Given the description of an element on the screen output the (x, y) to click on. 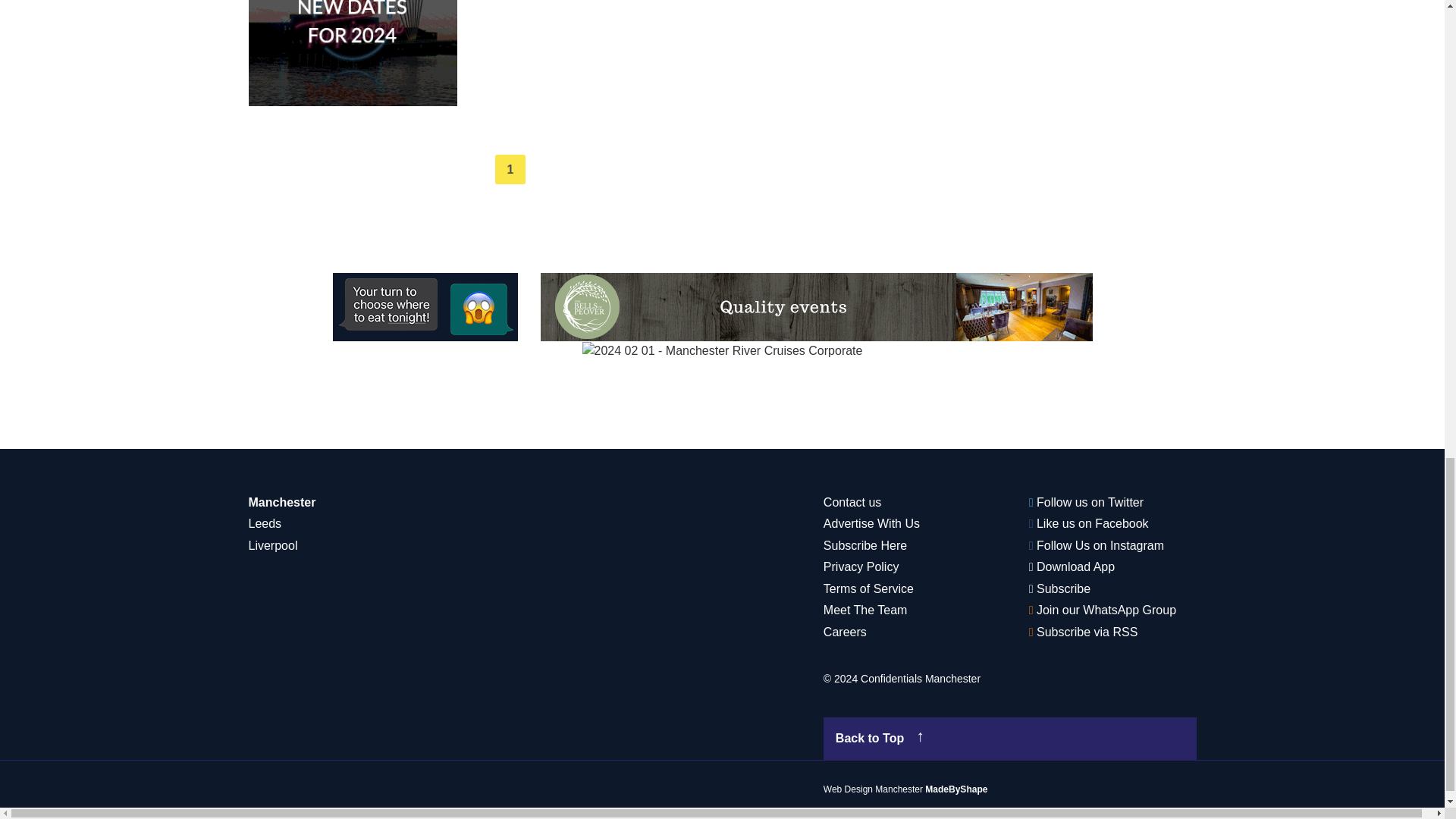
Back to Top (1010, 738)
